Given the description of an element on the screen output the (x, y) to click on. 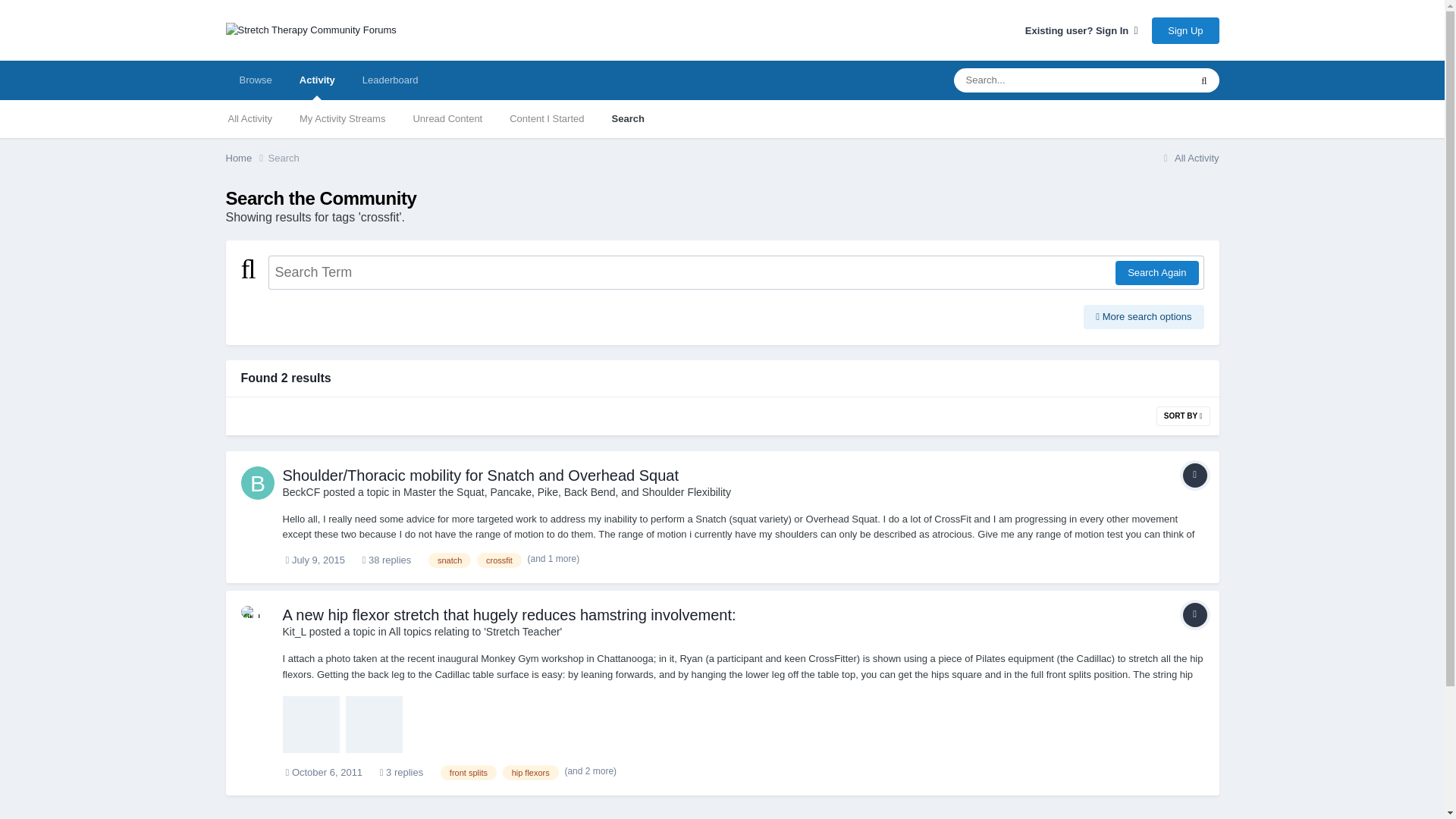
Browse (255, 79)
Topic (1194, 475)
Activity (317, 79)
Find other content tagged with 'snatch' (449, 560)
All Activity (1188, 157)
All Activity (249, 118)
Go to BeckCF's profile (301, 491)
Content I Started (546, 118)
Search (627, 118)
Find other content tagged with 'front splits' (468, 772)
Existing user? Sign In   (1081, 30)
My Activity Streams (341, 118)
Go to BeckCF's profile (258, 482)
Search Again (1156, 273)
Unread Content (447, 118)
